Given the description of an element on the screen output the (x, y) to click on. 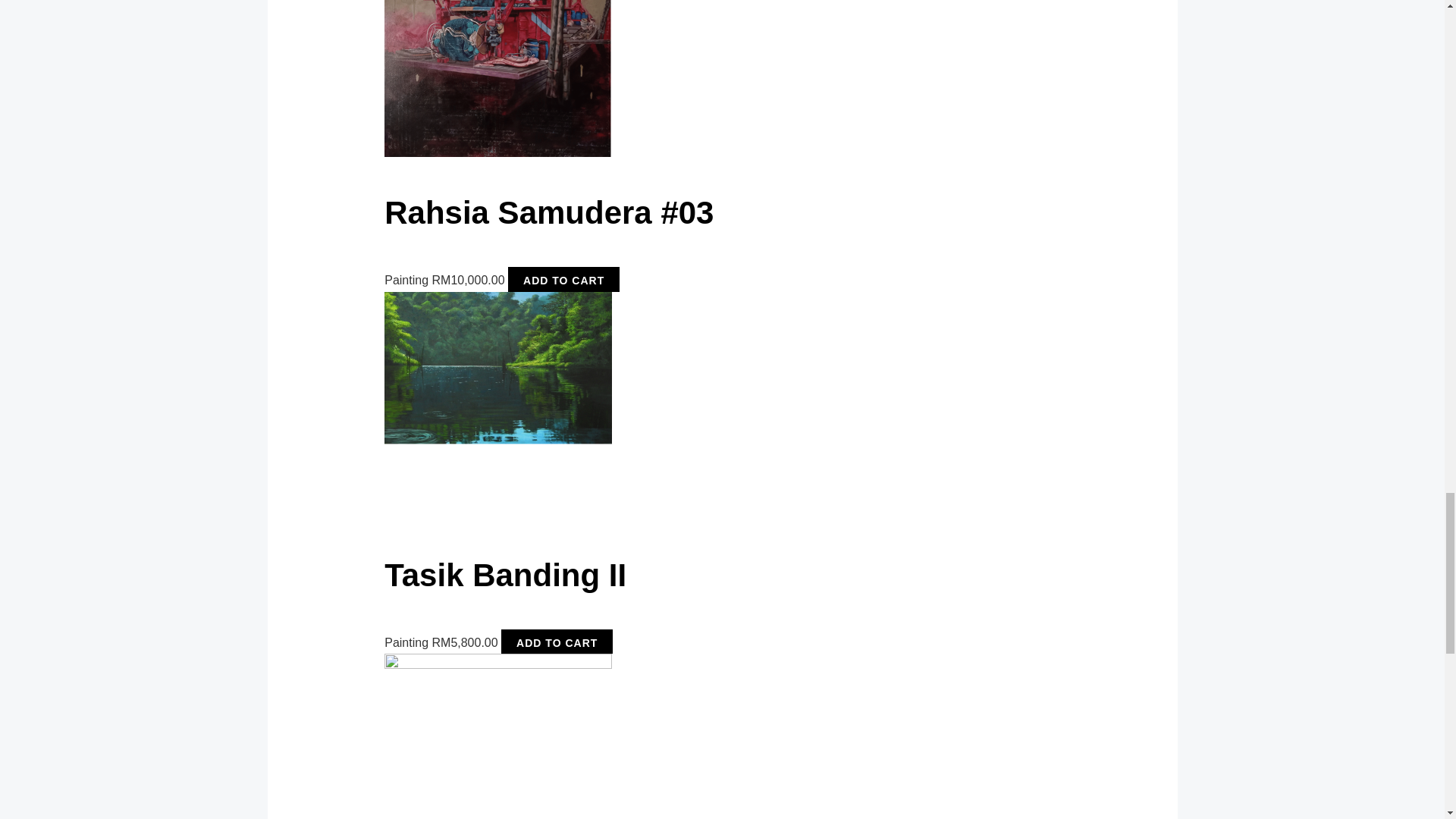
ADD TO CART (564, 280)
Tasik Banding II (740, 597)
